Given the description of an element on the screen output the (x, y) to click on. 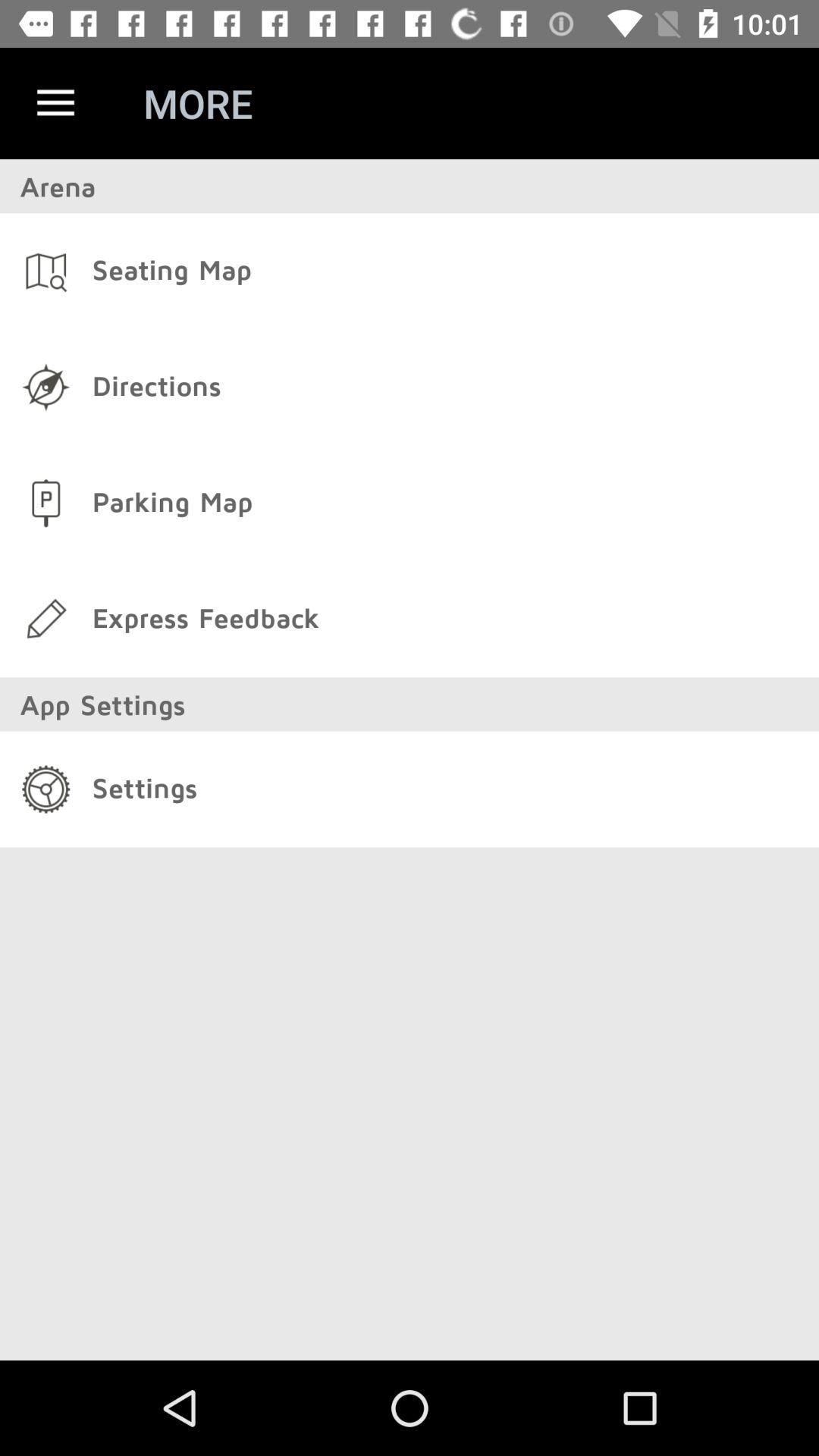
click the icon above the arena item (55, 103)
